Given the description of an element on the screen output the (x, y) to click on. 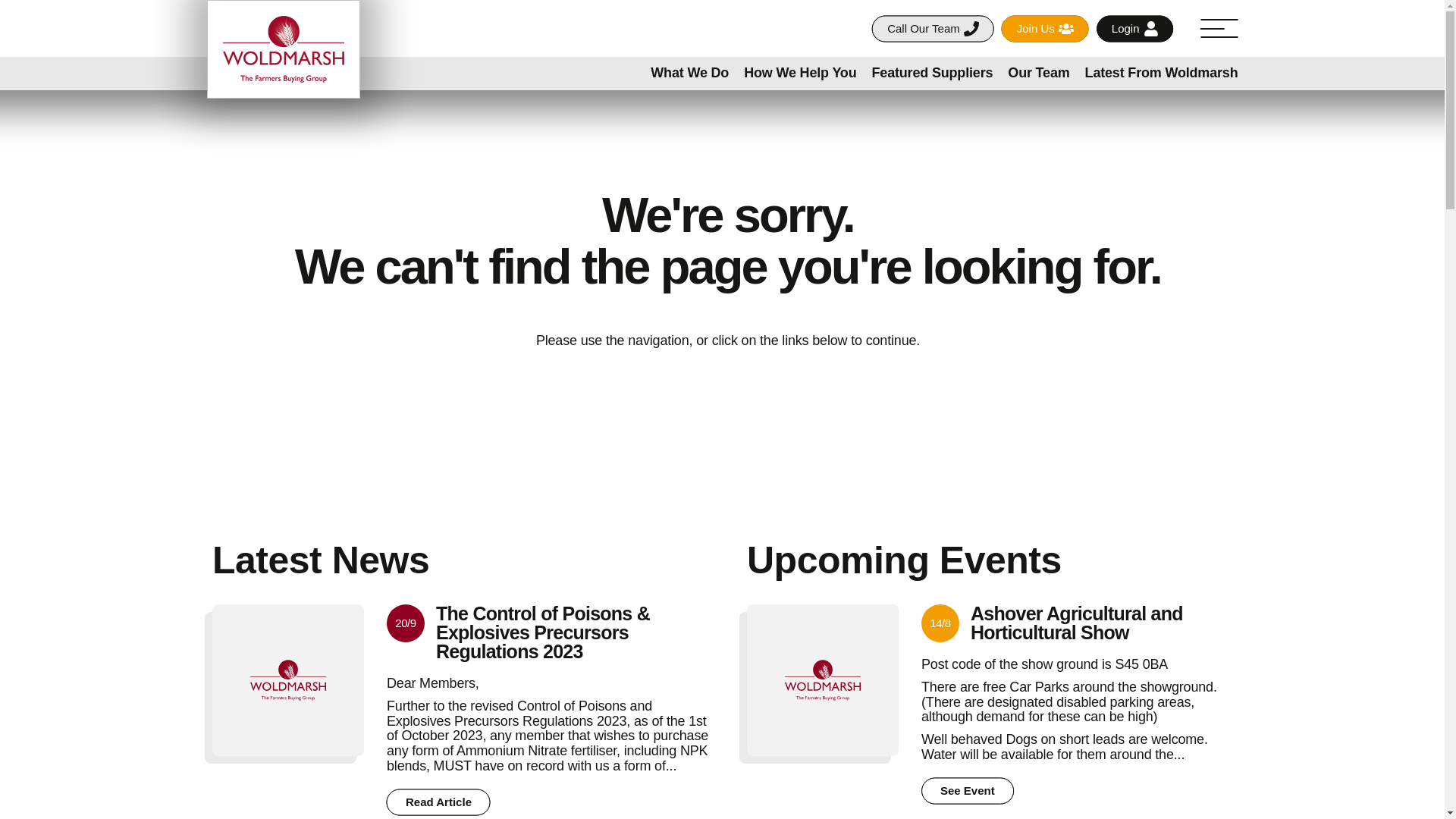
How We Help You (800, 72)
Call Our Team (933, 28)
What We Do (689, 72)
Login (1134, 28)
Our Team (1037, 72)
Featured Suppliers (932, 72)
Join Us (1045, 28)
Latest From Woldmarsh (1161, 72)
